Given the description of an element on the screen output the (x, y) to click on. 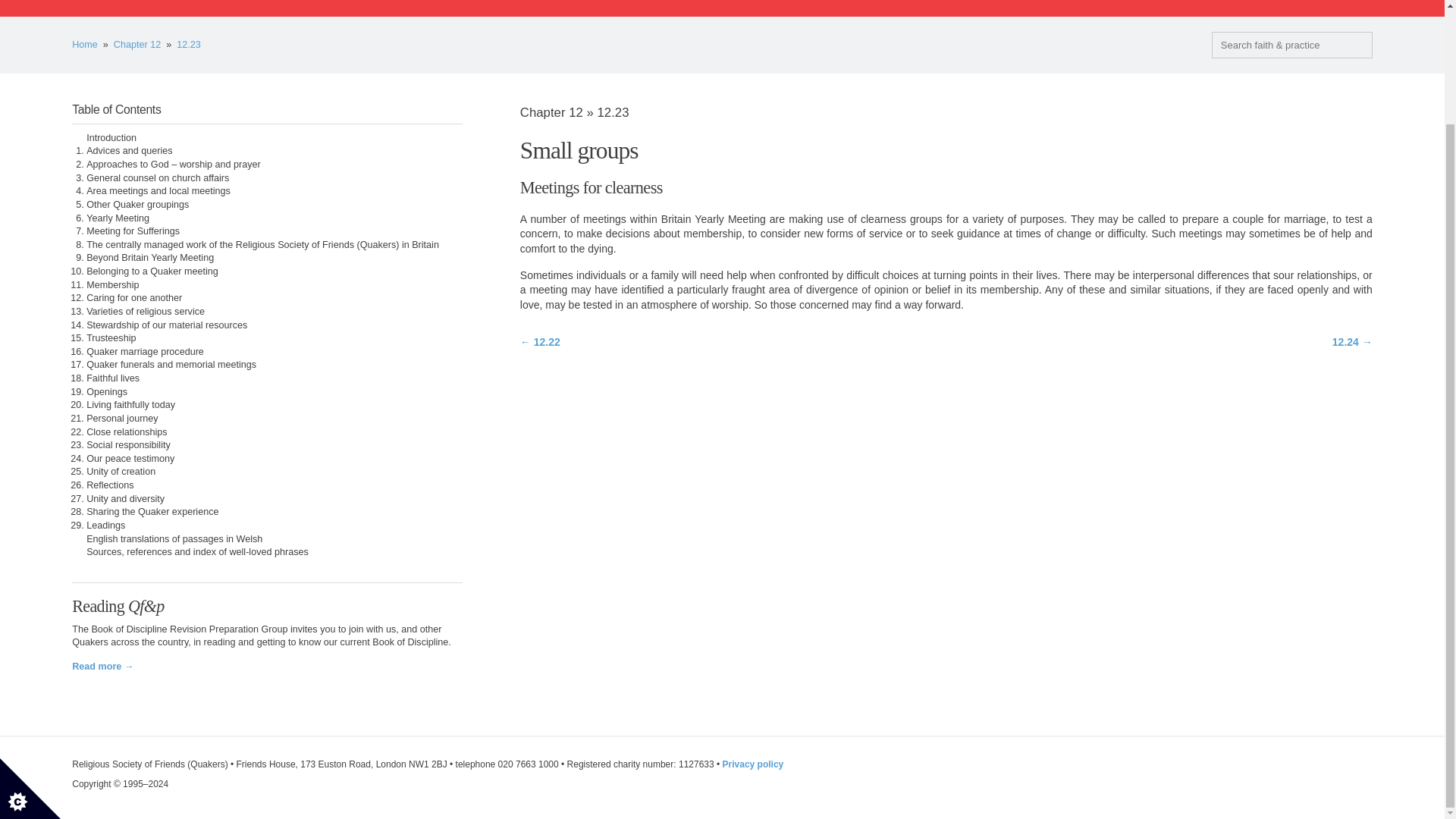
Meeting for Sufferings (132, 231)
Area meetings and local meetings (157, 190)
Membership (111, 285)
Quaker funerals and memorial meetings (170, 364)
Social responsibility (127, 444)
Living faithfully today (129, 404)
Other Quaker groupings (137, 204)
Beyond Britain Yearly Meeting (149, 257)
Advices and queries (128, 150)
Introduction (110, 137)
Yearly Meeting (117, 217)
Openings (106, 391)
Faithful lives (112, 378)
Home (84, 44)
12.23 (188, 44)
